Given the description of an element on the screen output the (x, y) to click on. 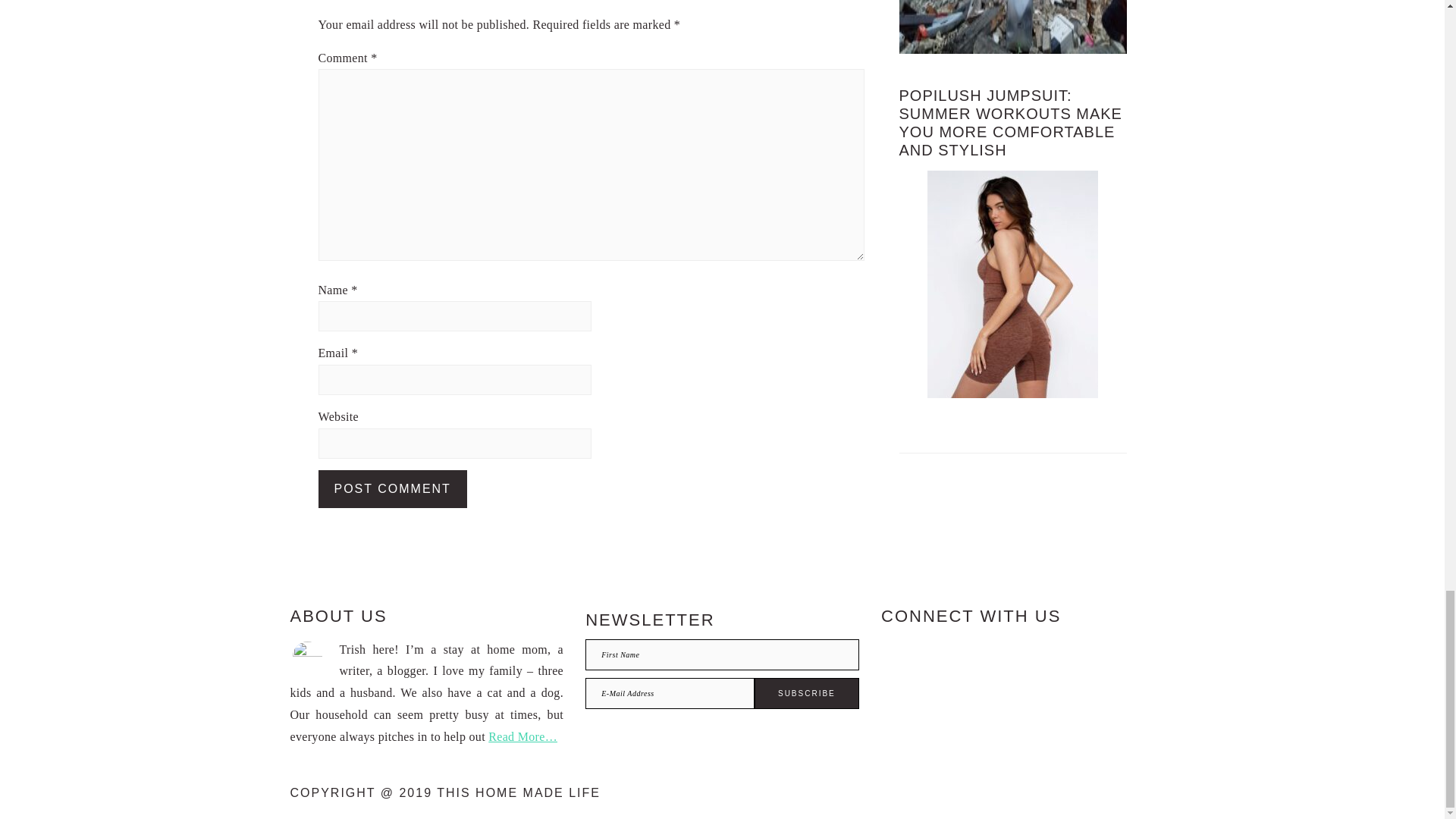
Subscribe (806, 693)
Post Comment (392, 488)
3 Tips For Preparing For An Earthquake (1012, 27)
Post Comment (392, 488)
